Given the description of an element on the screen output the (x, y) to click on. 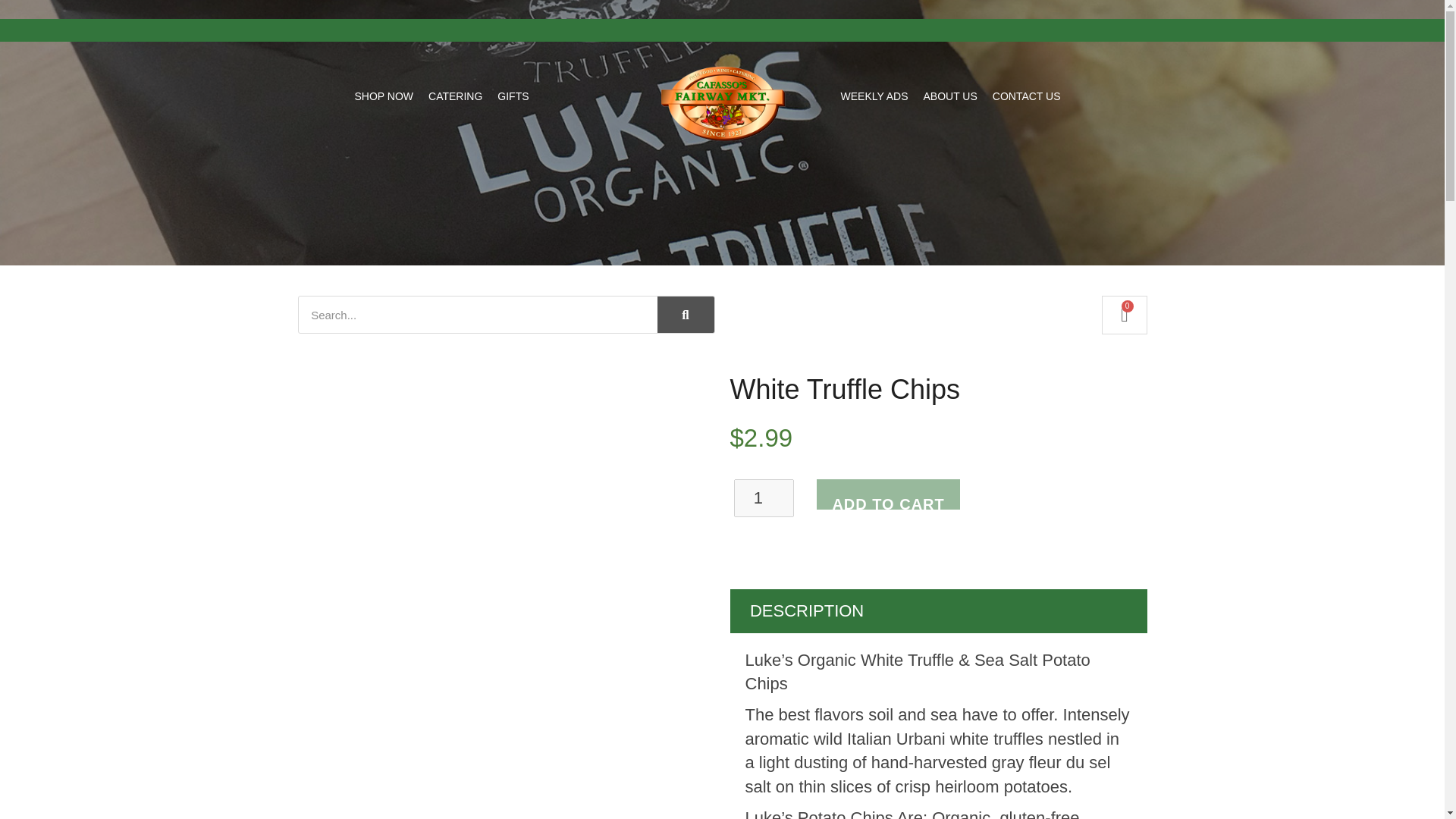
ADD TO CART (887, 494)
DESCRIPTION (806, 610)
CATERING (454, 96)
Cafasso's Fairway Market (722, 103)
CONTACT US (1026, 96)
SHOP NOW (384, 96)
0 (1124, 314)
ABOUT US (949, 96)
1 (763, 497)
GIFTS (512, 96)
WEEKLY ADS (873, 96)
